Given the description of an element on the screen output the (x, y) to click on. 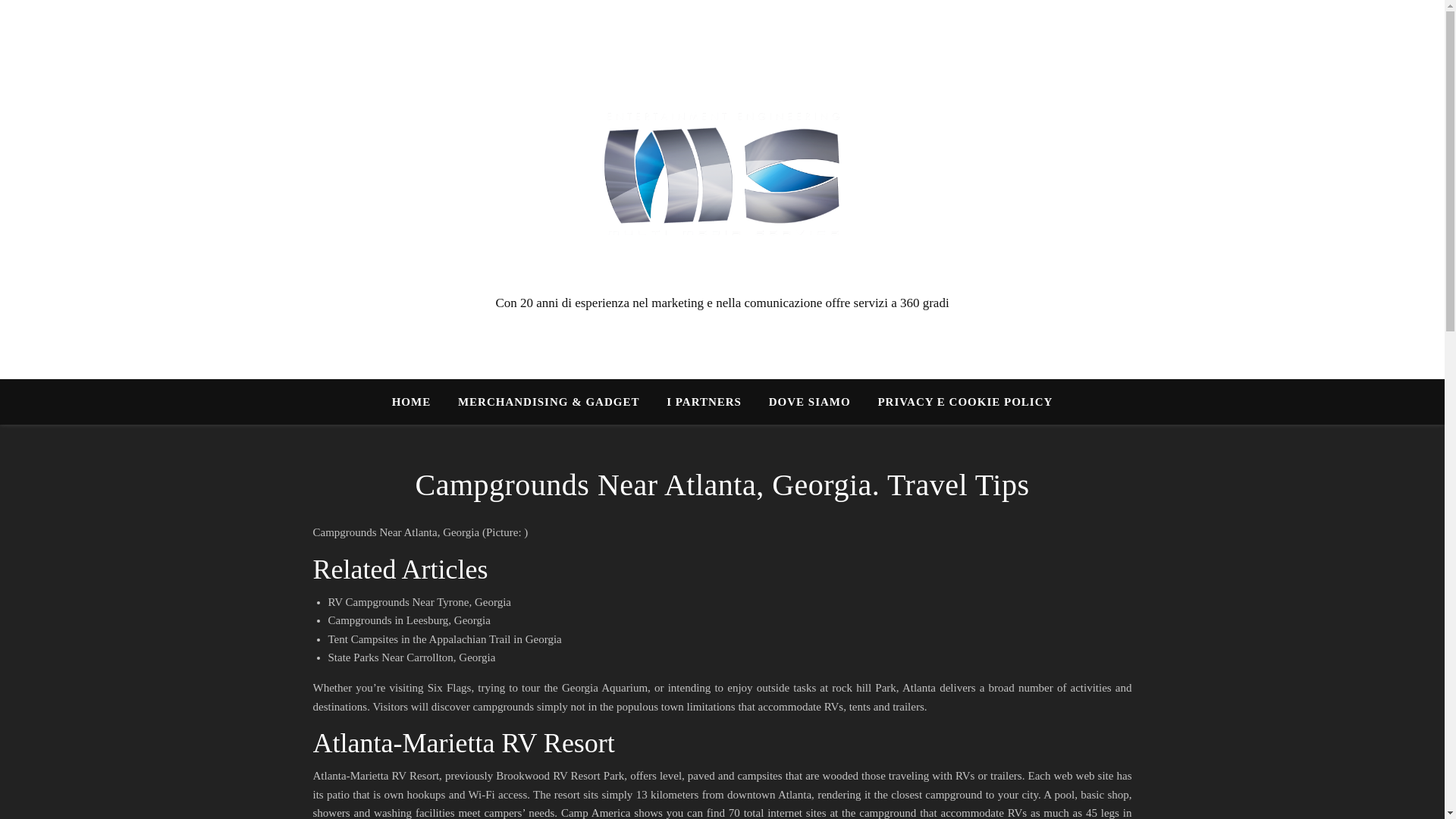
HOME (417, 402)
I PARTNERS (703, 402)
PRIVACY E COOKIE POLICY (958, 402)
DOVE SIAMO (810, 402)
Multi Media Service (721, 175)
